Given the description of an element on the screen output the (x, y) to click on. 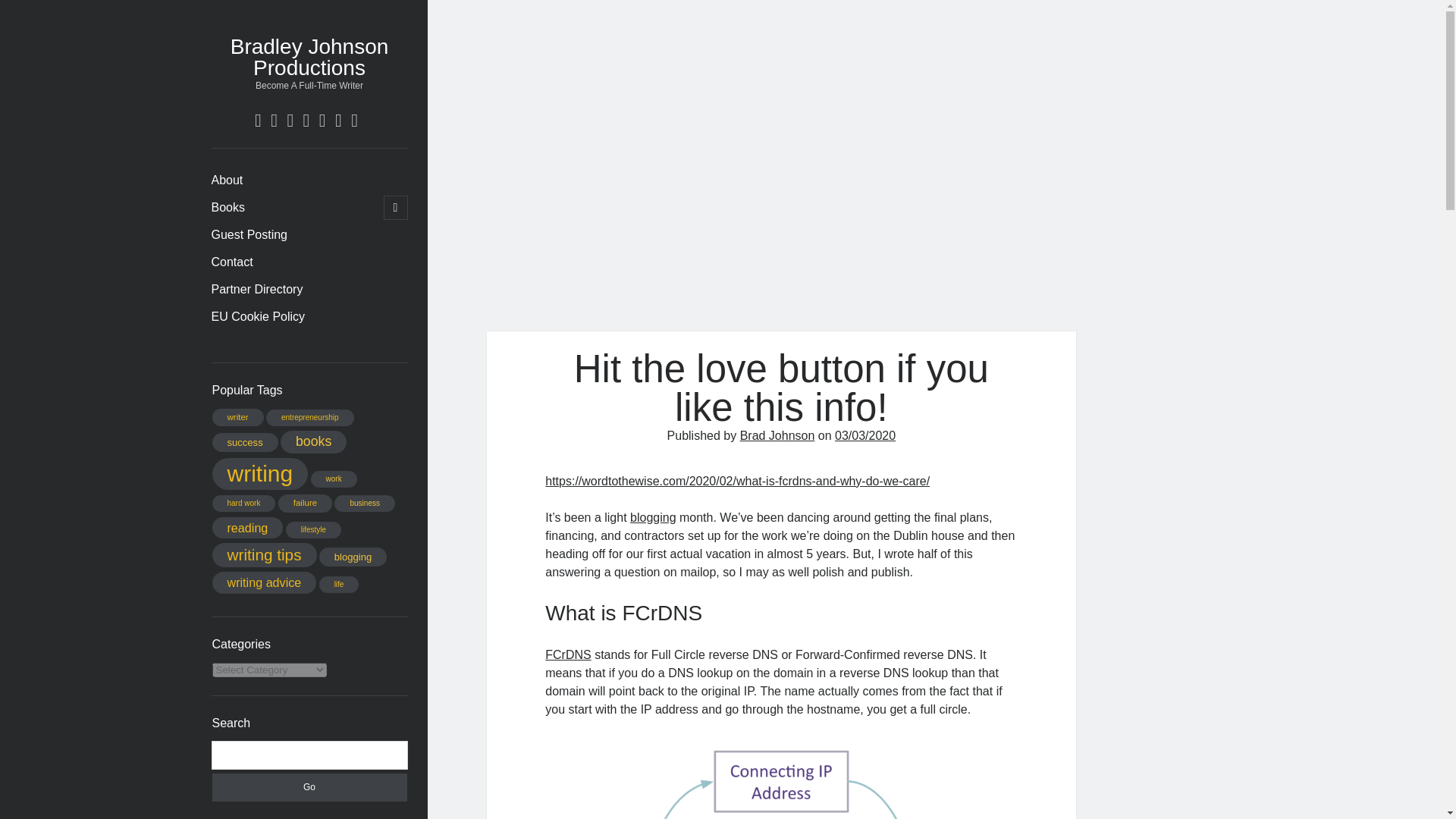
lifestyle (312, 529)
open child menu (395, 207)
work (333, 478)
failure (304, 503)
success (245, 442)
13 topics (237, 417)
16 topics (264, 581)
hard work (244, 503)
blogging (352, 556)
Guest Posting (248, 235)
